Given the description of an element on the screen output the (x, y) to click on. 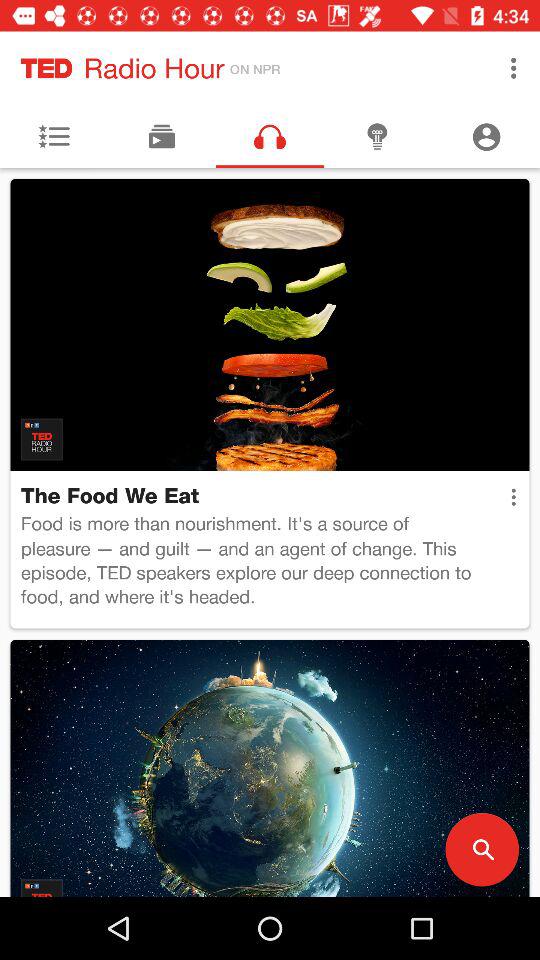
open icon at the bottom right corner (482, 849)
